Given the description of an element on the screen output the (x, y) to click on. 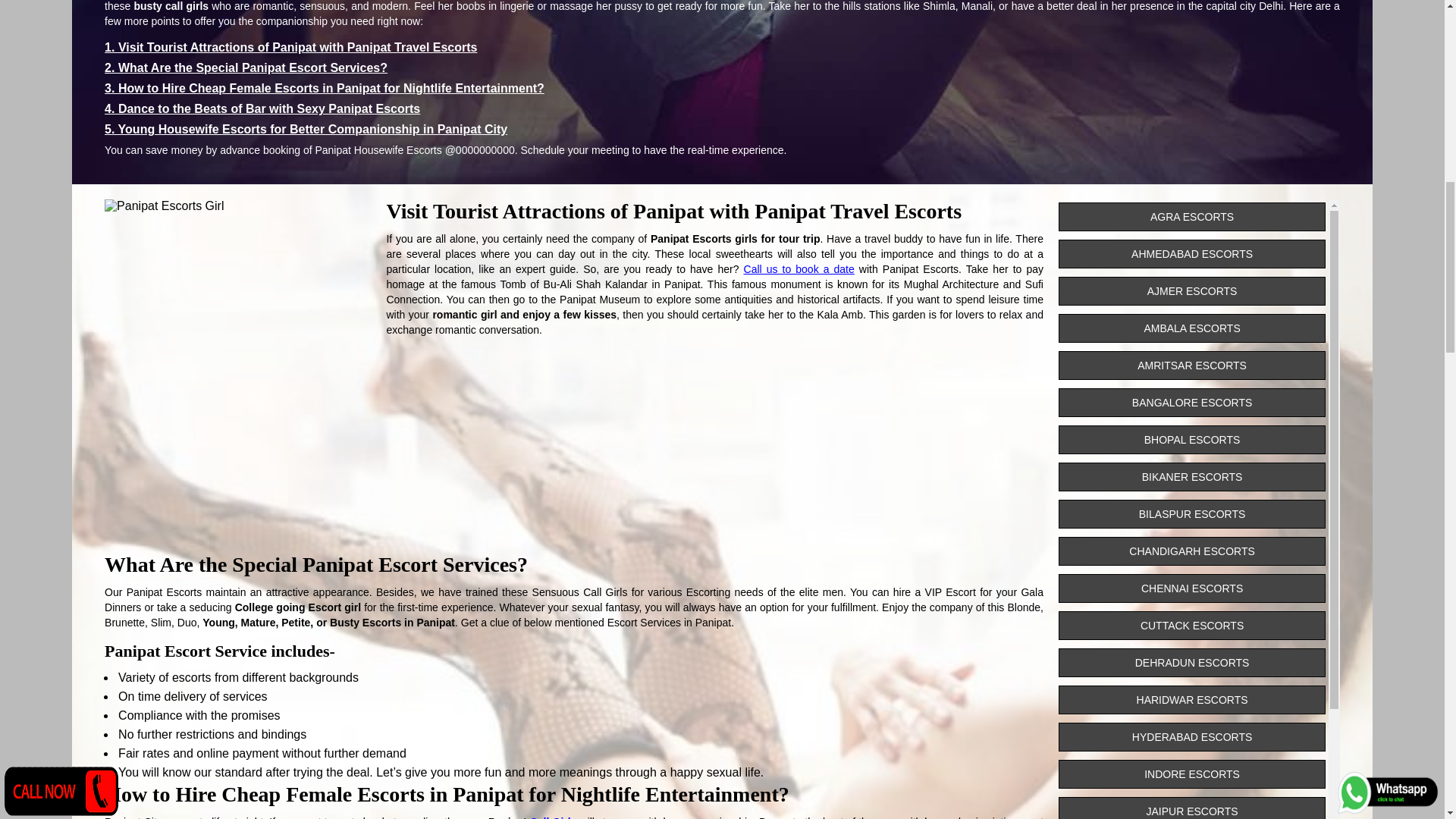
BHOPAL ESCORTS (1191, 439)
HYDERABAD ESCORTS (1191, 736)
INDORE ESCORTS (1191, 774)
HARIDWAR ESCORTS (1191, 699)
CUTTACK ESCORTS (1191, 624)
CHENNAI ESCORTS (1191, 588)
AHMEDABAD ESCORTS (1191, 253)
AMRITSAR ESCORTS (1191, 365)
Escorts in Agra (1191, 216)
